Given the description of an element on the screen output the (x, y) to click on. 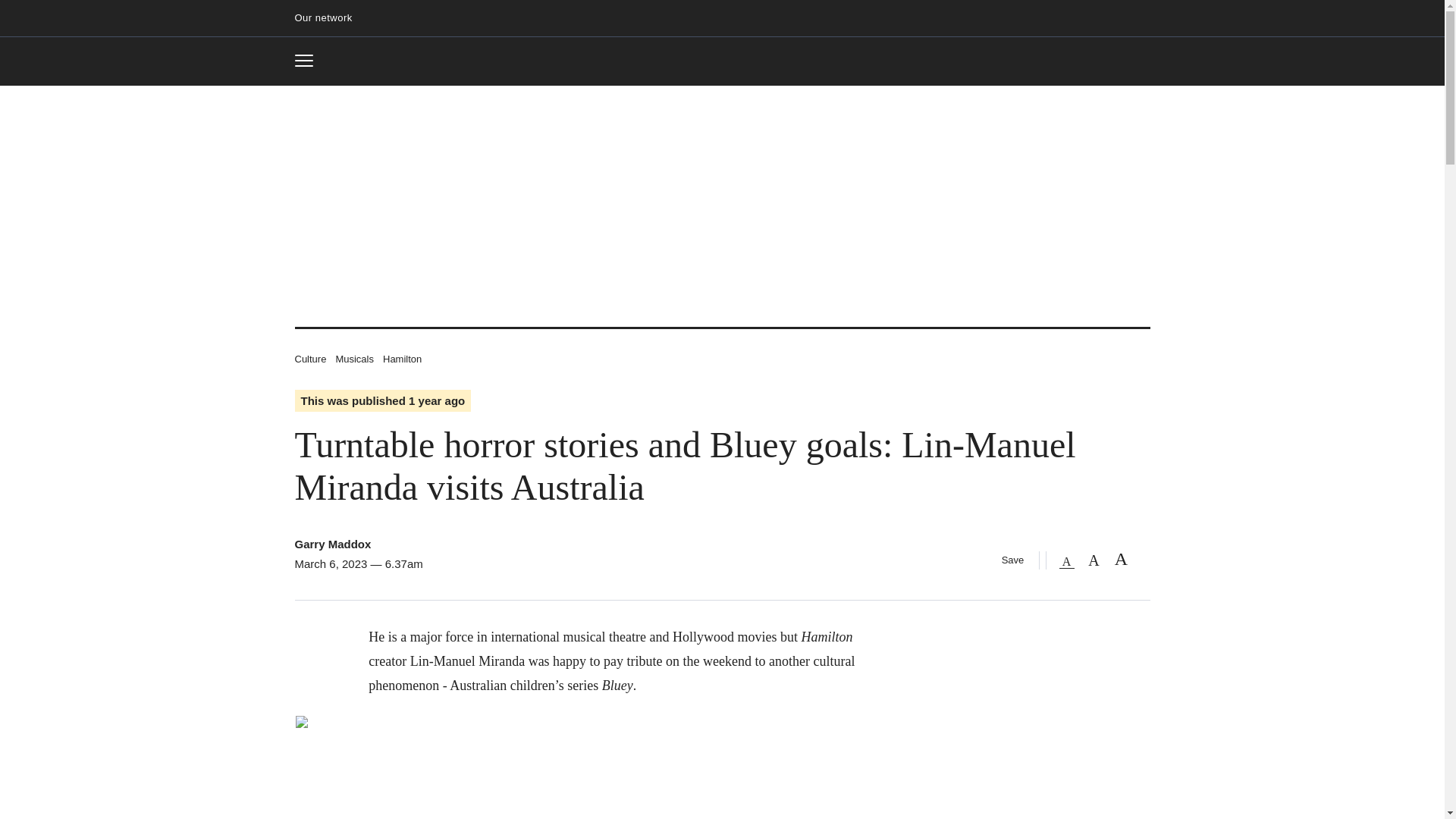
Hamilton (402, 358)
Musicals (309, 60)
Articles by Garry Maddox (354, 358)
Brisbane Times (332, 543)
Our network (722, 61)
Culture (329, 17)
